Given the description of an element on the screen output the (x, y) to click on. 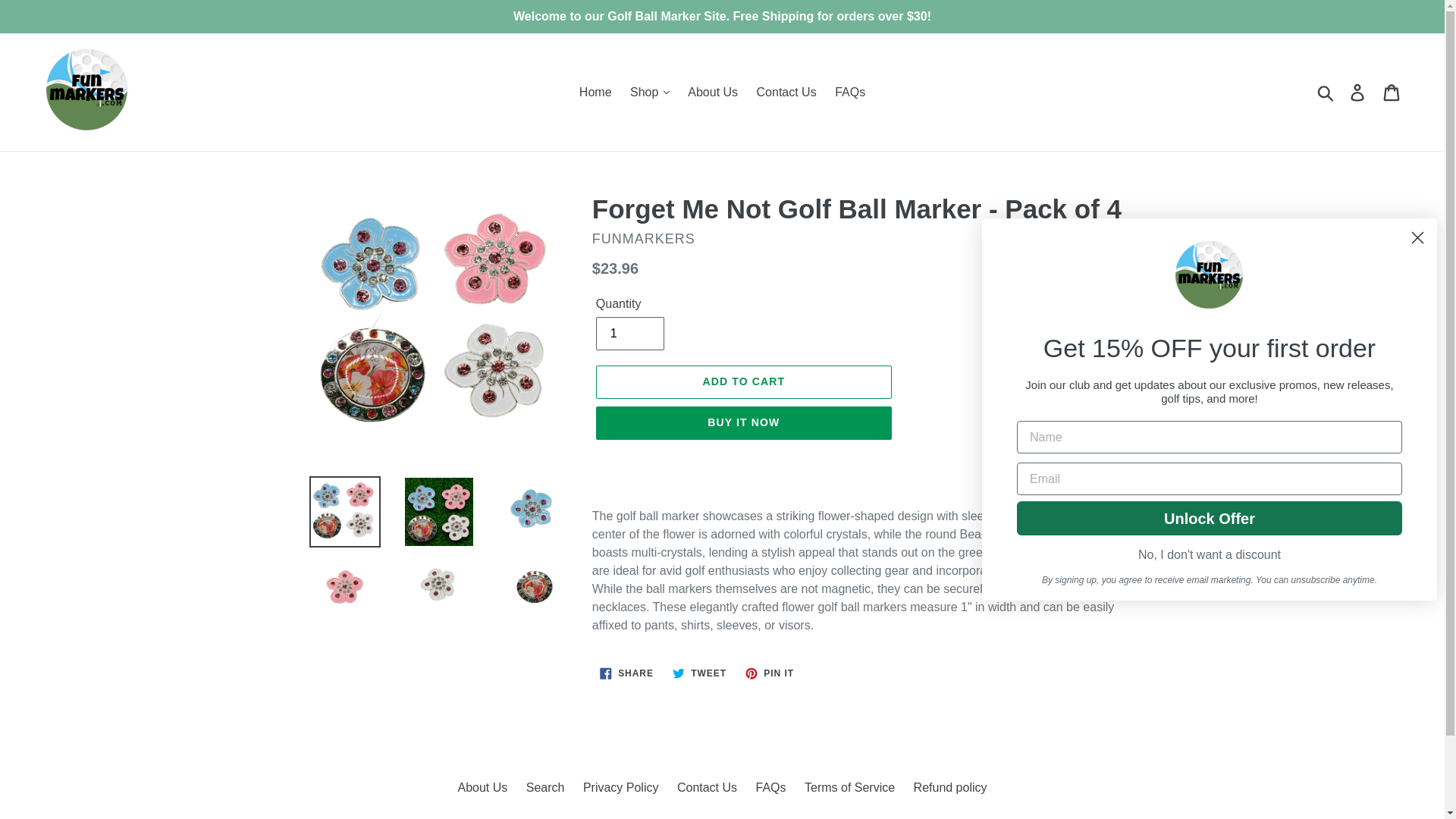
FAQs (849, 91)
Log in (1357, 91)
Cart (1392, 91)
Submit (1326, 92)
1 (629, 333)
About Us (712, 91)
Contact Us (786, 91)
Home (596, 91)
